Given the description of an element on the screen output the (x, y) to click on. 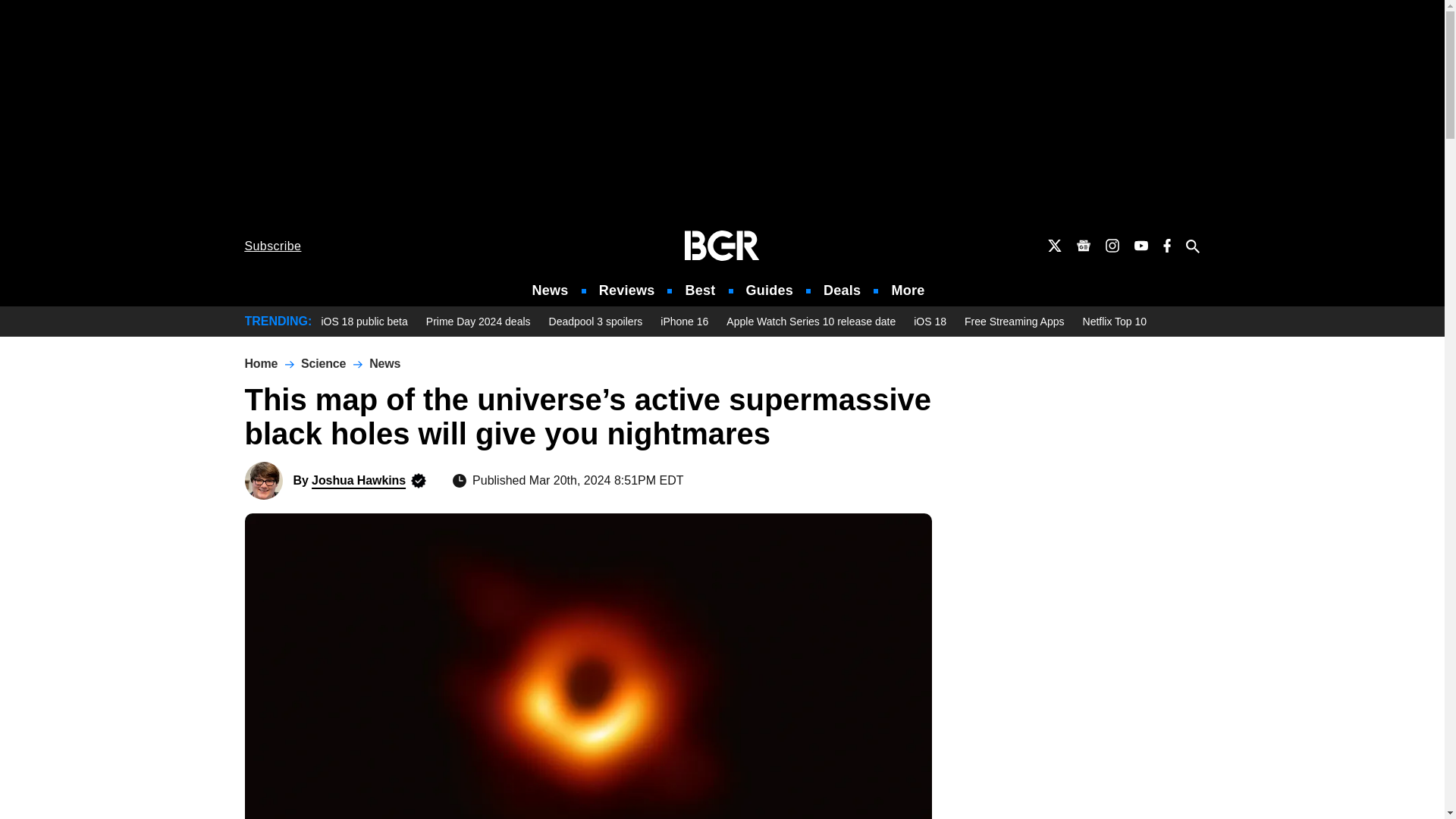
Guides (769, 290)
Deals (842, 290)
Best (699, 290)
Subscribe (272, 245)
News (550, 290)
Posts by Joshua Hawkins (358, 480)
More (907, 290)
Reviews (626, 290)
